Given the description of an element on the screen output the (x, y) to click on. 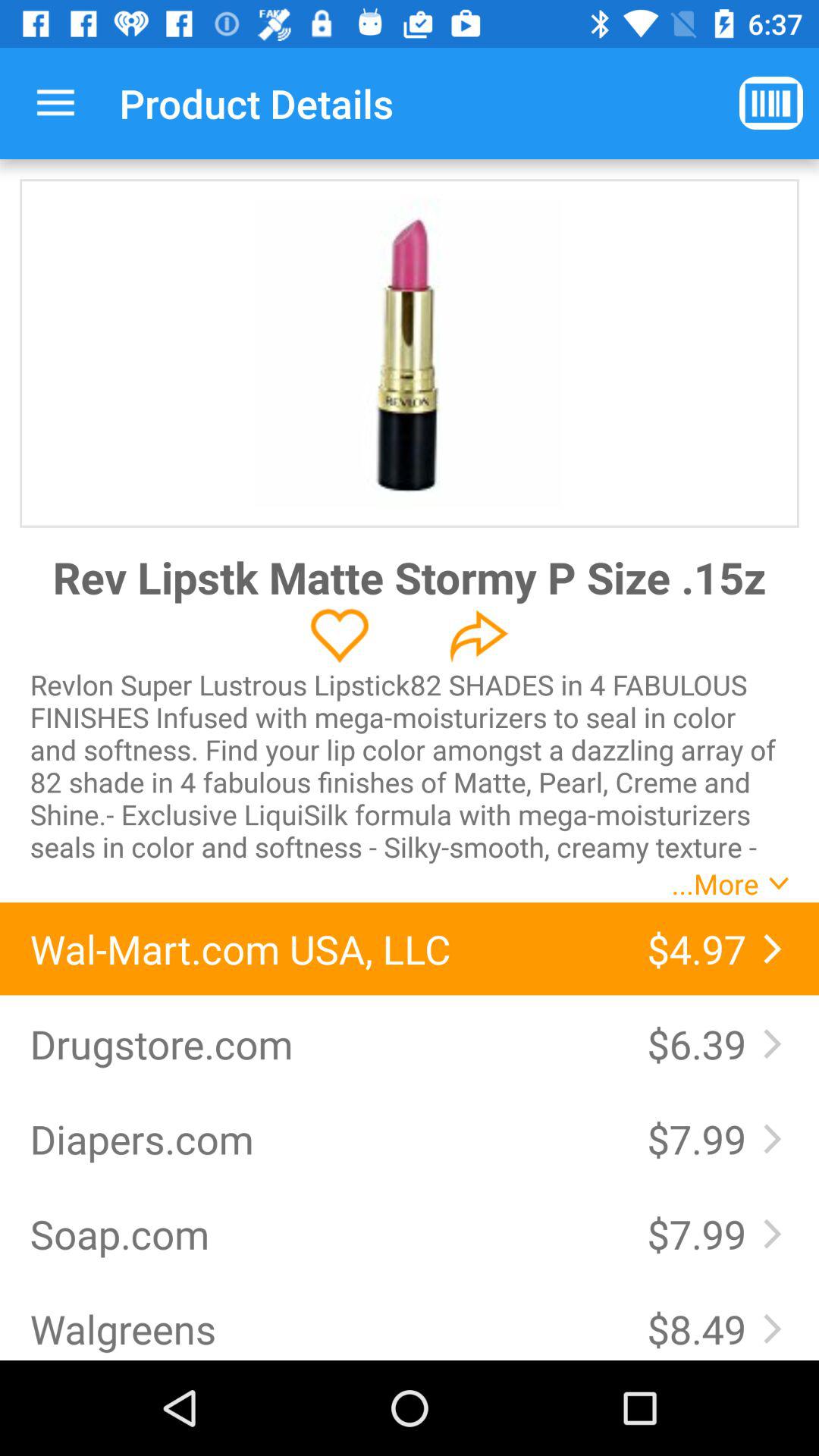
select icon next to the product details item (771, 103)
